Given the description of an element on the screen output the (x, y) to click on. 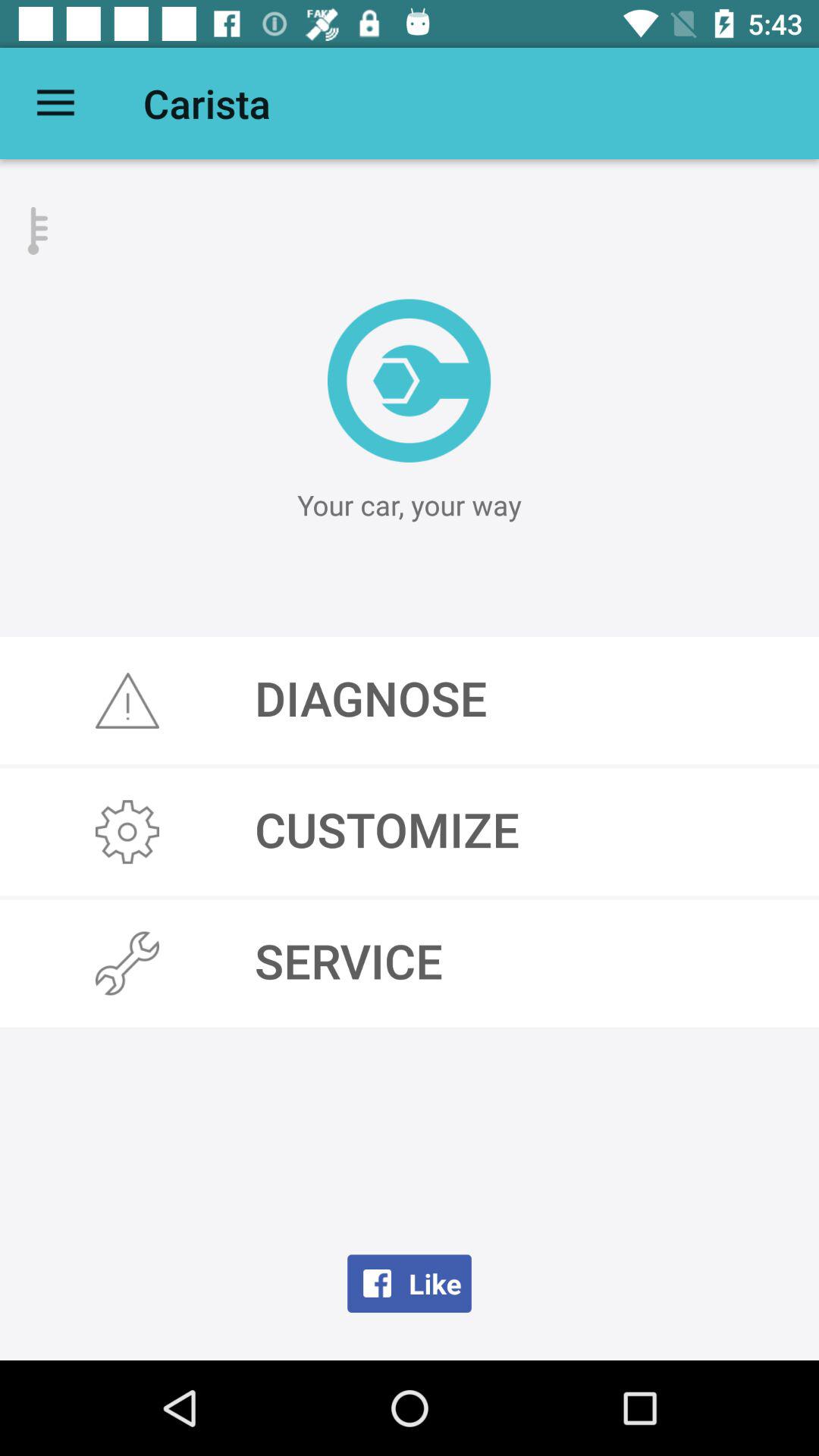
choose diagnose item (409, 700)
